Given the description of an element on the screen output the (x, y) to click on. 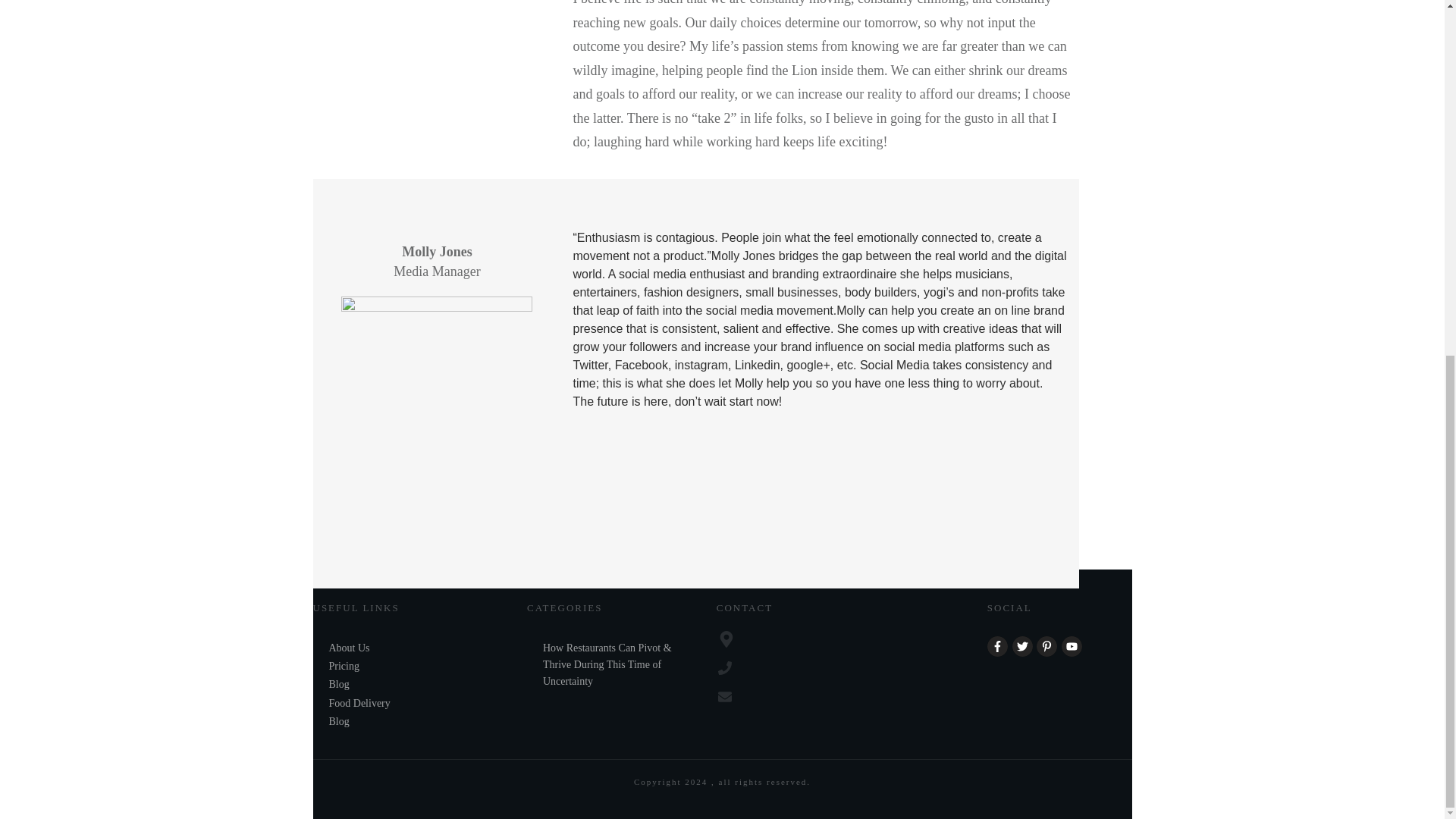
Pricing (344, 666)
molly-jones-252x300-252x300 (436, 410)
Blog (339, 684)
Food Delivery (359, 703)
Blog (339, 721)
jason-happy-e1444013995416 (436, 58)
About Us (349, 647)
